Given the description of an element on the screen output the (x, y) to click on. 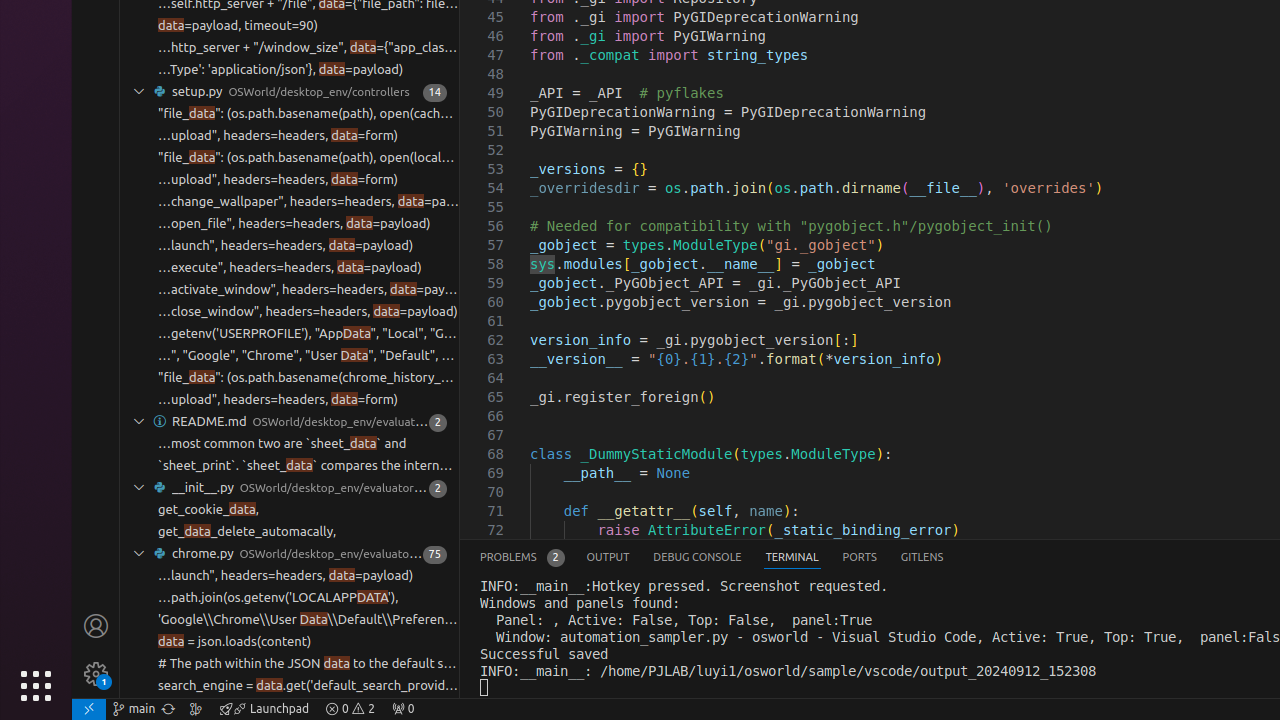
'Google\\Chrome\\User Data\\Default\\Preferences'))""")['output'].strip() Element type: link (308, 619)
…upload", headers=headers, data=form) Element type: link (278, 135)
…http_server + "/window_size", data={"app_class_name": app_class_name}) Element type: link (308, 47)
rocket gitlens-unplug Launchpad, GitLens Launchpad ᴘʀᴇᴠɪᴇᴡ    &mdash;    [$(question)](command:gitlens.launchpad.indicator.action?%22info%22 "What is this?") [$(gear)](command:workbench.action.openSettings?%22gitlens.launchpad%22 "Settings")  |  [$(circle-slash) Hide](command:gitlens.launchpad.indicator.action?%22hide%22 "Hide") --- [Launchpad](command:gitlens.launchpad.indicator.action?%info%22 "Learn about Launchpad") organizes your pull requests into actionable groups to help you focus and keep your team unblocked. It's always accessible using the `GitLens: Open Launchpad` command from the Command Palette. --- [Connect an integration](command:gitlens.showLaunchpad?%7B%22source%22%3A%22launchpad-indicator%22%7D "Connect an integration") to get started. Element type: push-button (264, 709)
`sheet_print`. `sheet_data` compares the internal cell values through pandoc, Element type: link (308, 465)
